Given the description of an element on the screen output the (x, y) to click on. 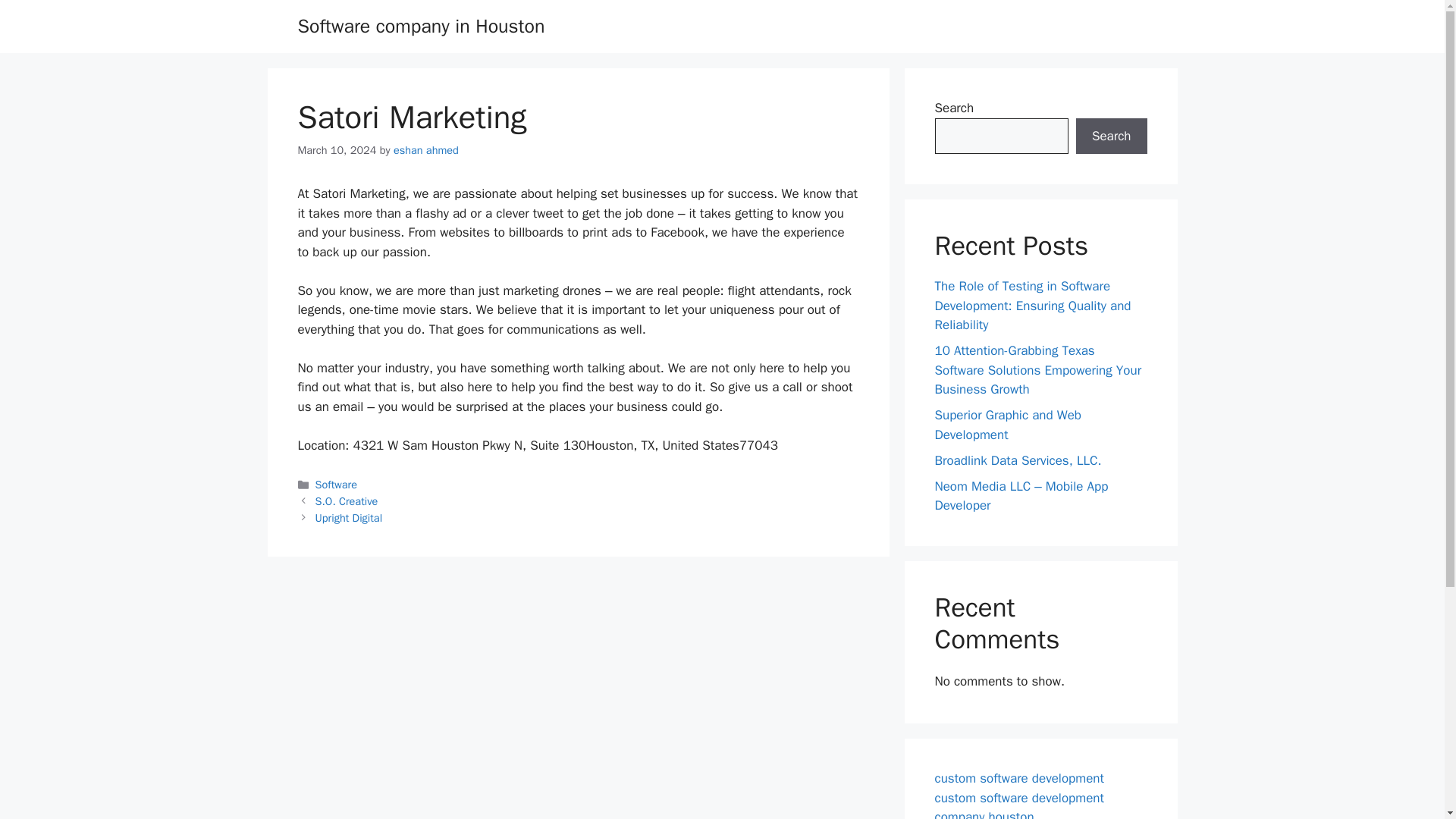
eshan ahmed (425, 150)
Upright Digital (348, 517)
S.O. Creative (346, 500)
Superior Graphic and Web Development (1007, 425)
Software (335, 484)
Software company in Houston (420, 25)
custom software development company houston (1018, 804)
View all posts by eshan ahmed (425, 150)
